Given the description of an element on the screen output the (x, y) to click on. 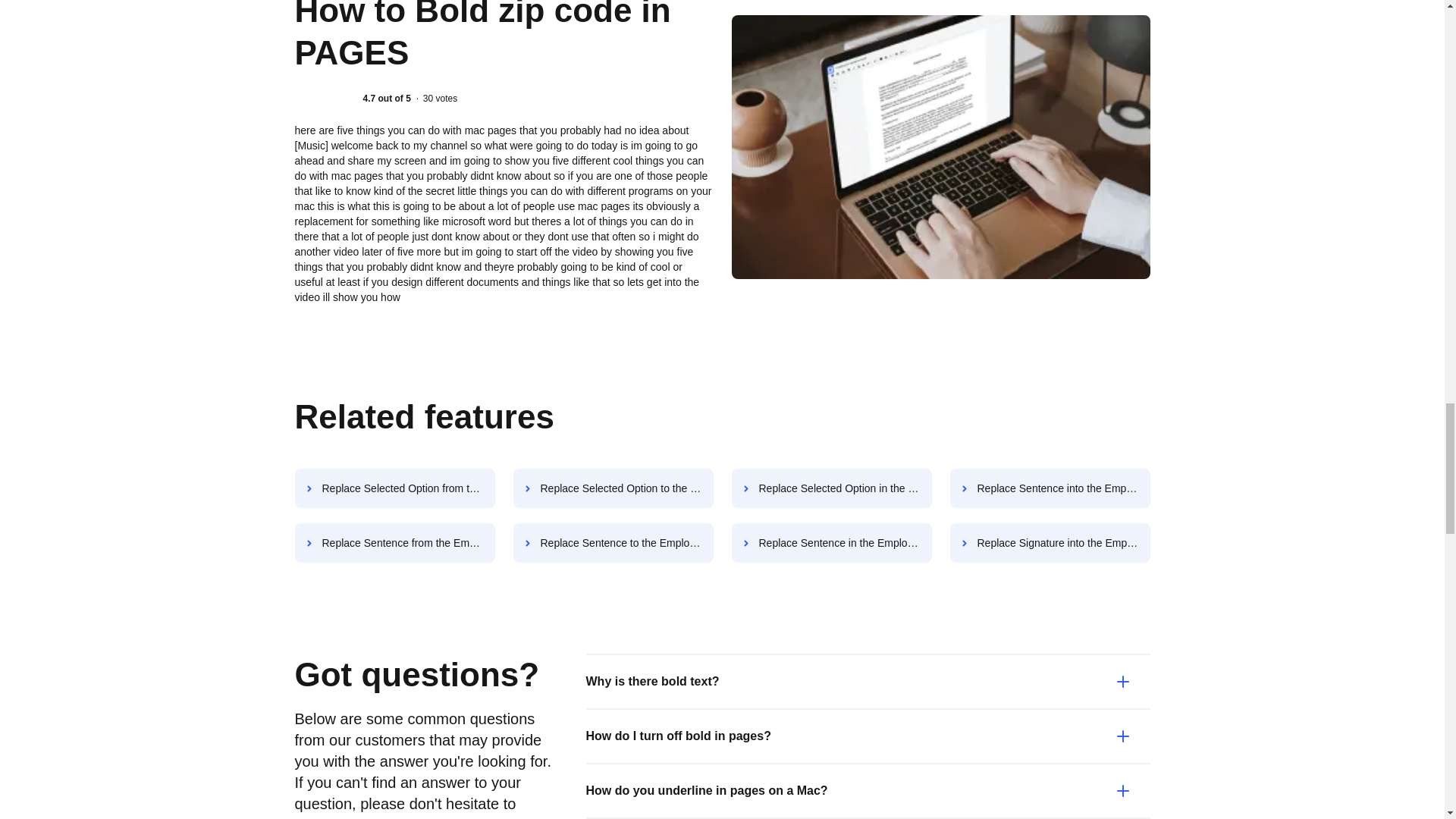
Replace Selected Option in the Employee Performance Review (830, 487)
Replace Selected Option to the Employee Performance Review (612, 487)
Replace Sentence into the Employee Performance Review (1049, 487)
Replace Sentence from the Employee Performance Review (394, 542)
Replace Sentence in the Employee Performance Review (830, 542)
Replace Selected Option from the Employee Performance Review (394, 487)
Replace Sentence to the Employee Performance Review (612, 542)
Replace Signature into the Employee Performance Review (1049, 542)
